Given the description of an element on the screen output the (x, y) to click on. 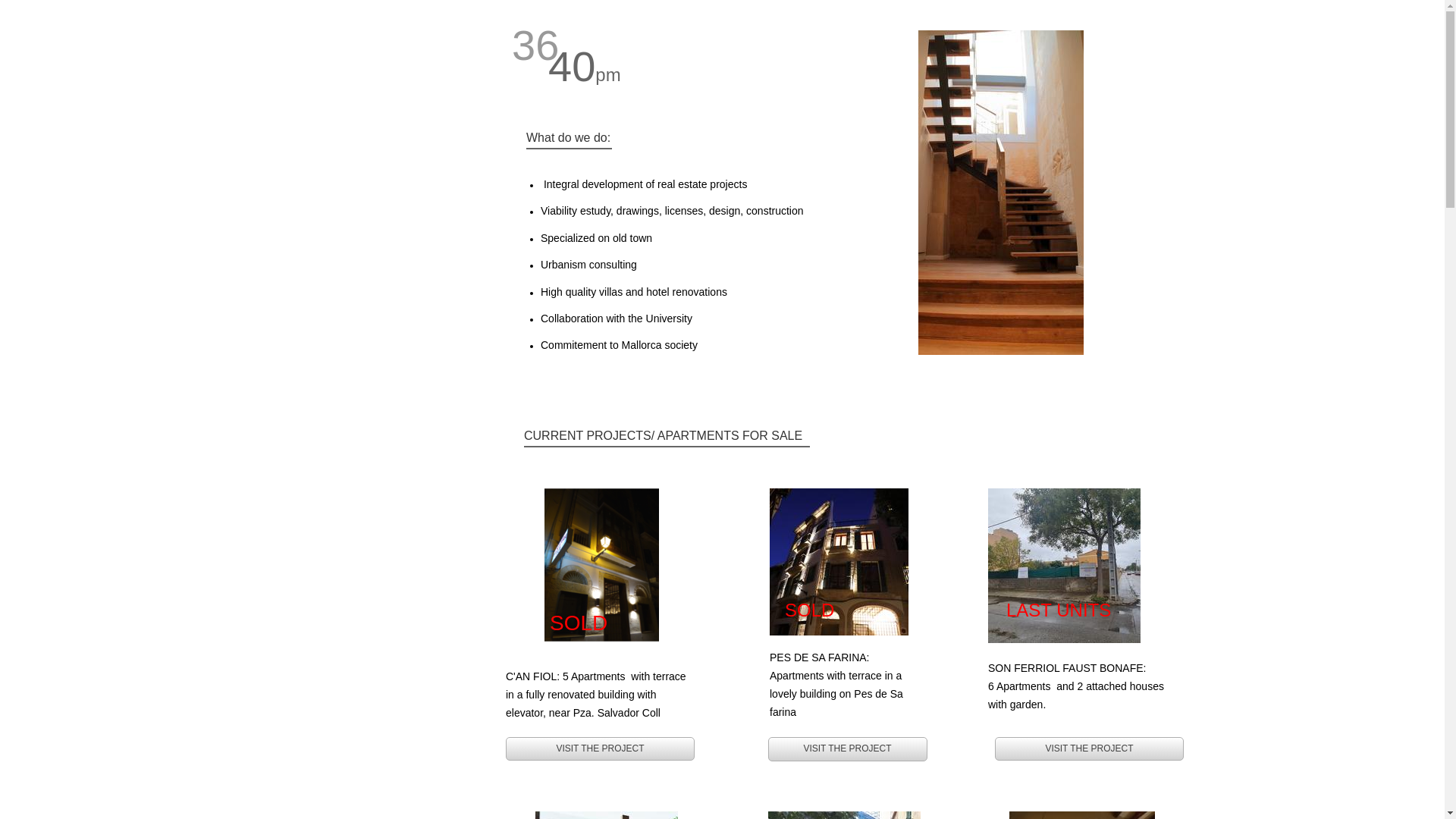
VISIT THE PROJECT Element type: text (599, 748)
VISIT THE PROJECT Element type: text (846, 749)
VISIT THE PROJECT Element type: text (1088, 748)
